Given the description of an element on the screen output the (x, y) to click on. 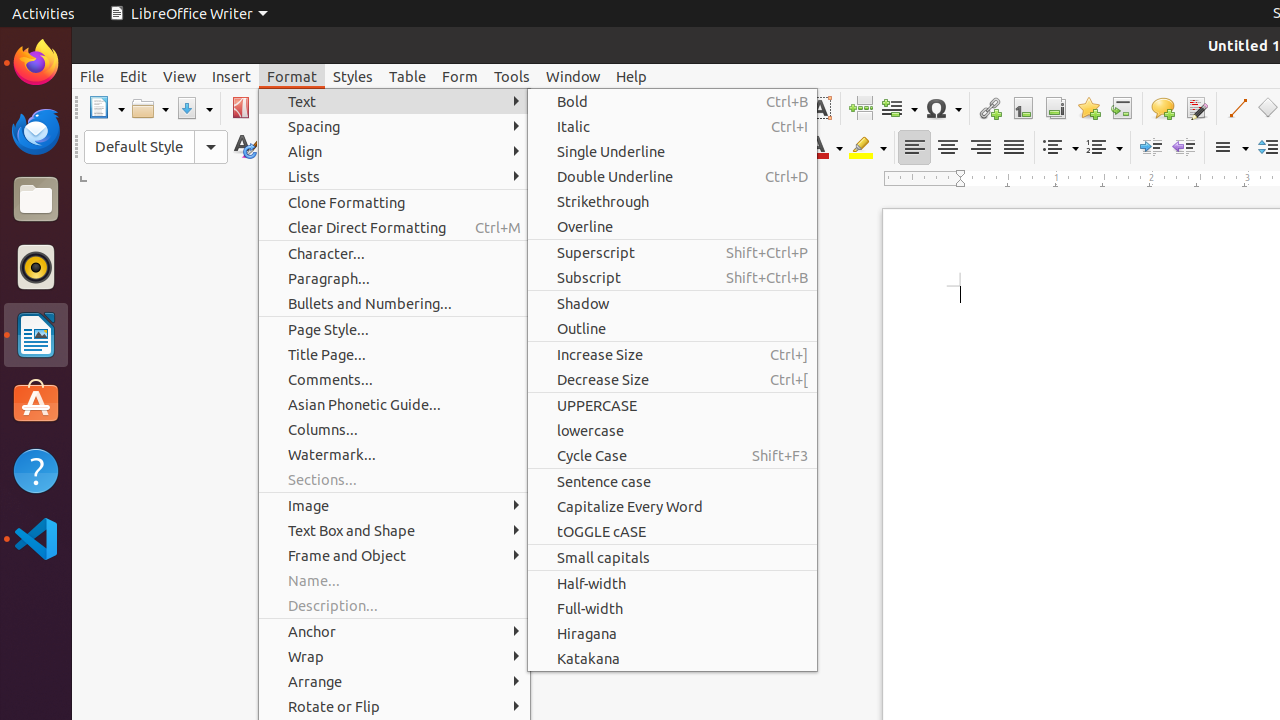
Formatting Marks Element type: toggle-button (668, 108)
Find & Replace Element type: toggle-button (602, 108)
Font Color Element type: push-button (824, 147)
Columns... Element type: menu-item (394, 429)
Bullets Element type: push-button (1060, 147)
